Given the description of an element on the screen output the (x, y) to click on. 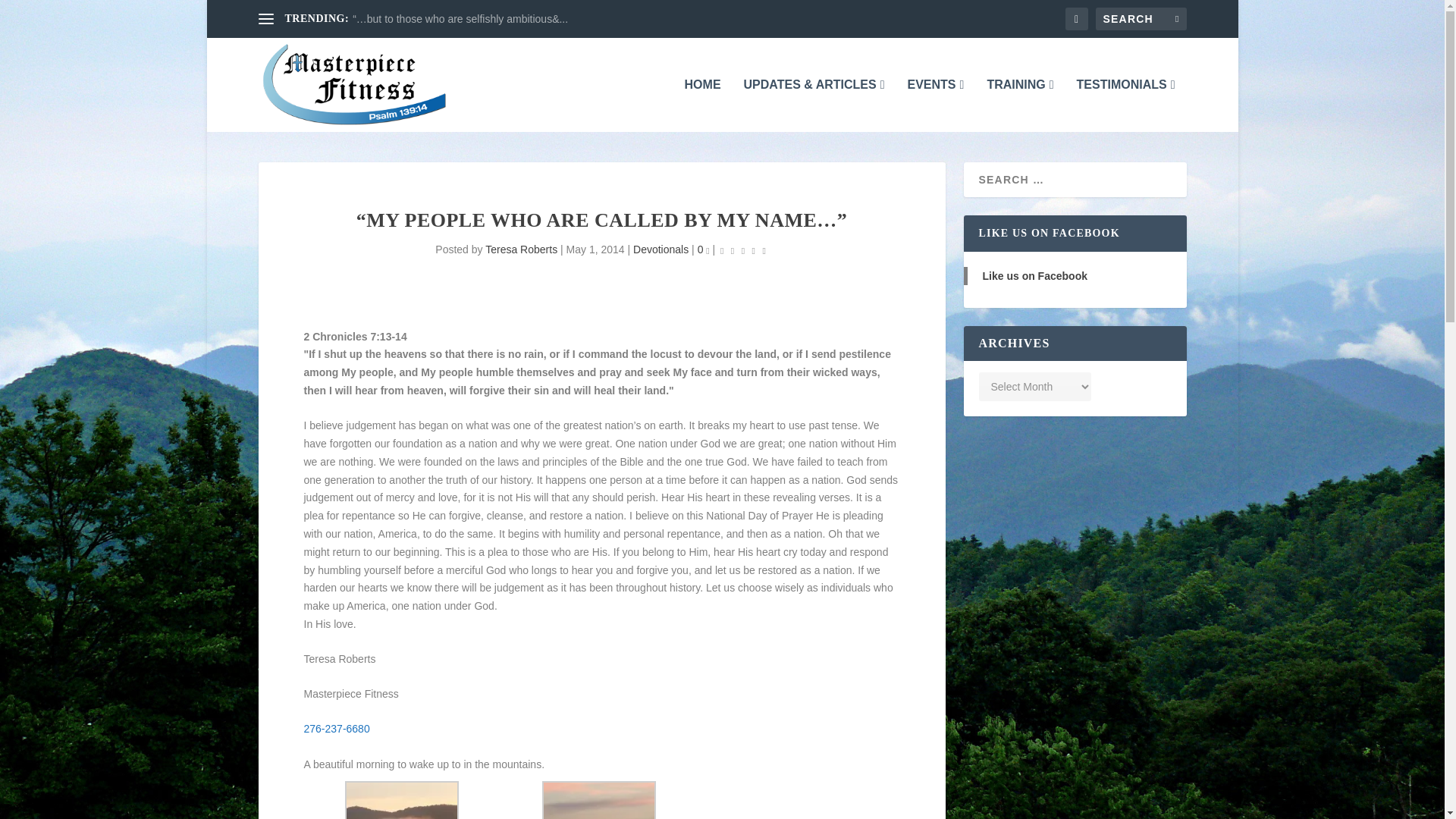
Rating: 0.00 (742, 250)
Posts by Teresa Roberts (520, 249)
EVENTS (935, 104)
